Given the description of an element on the screen output the (x, y) to click on. 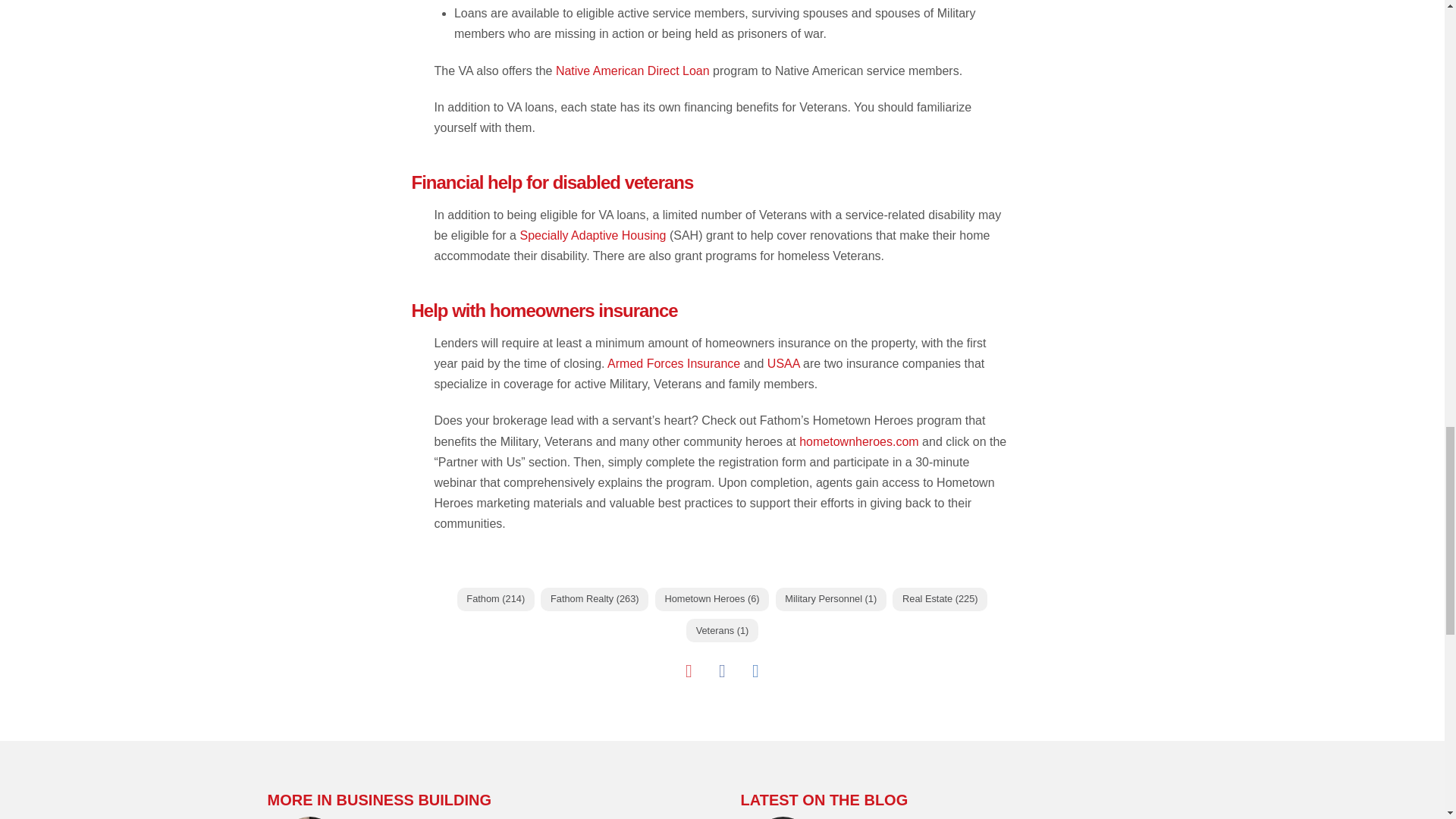
hometownheroes.com (858, 440)
Native American Direct Loan (633, 70)
USAA (783, 363)
Armed Forces Insurance (673, 363)
Specially Adaptive Housing (592, 235)
